Given the description of an element on the screen output the (x, y) to click on. 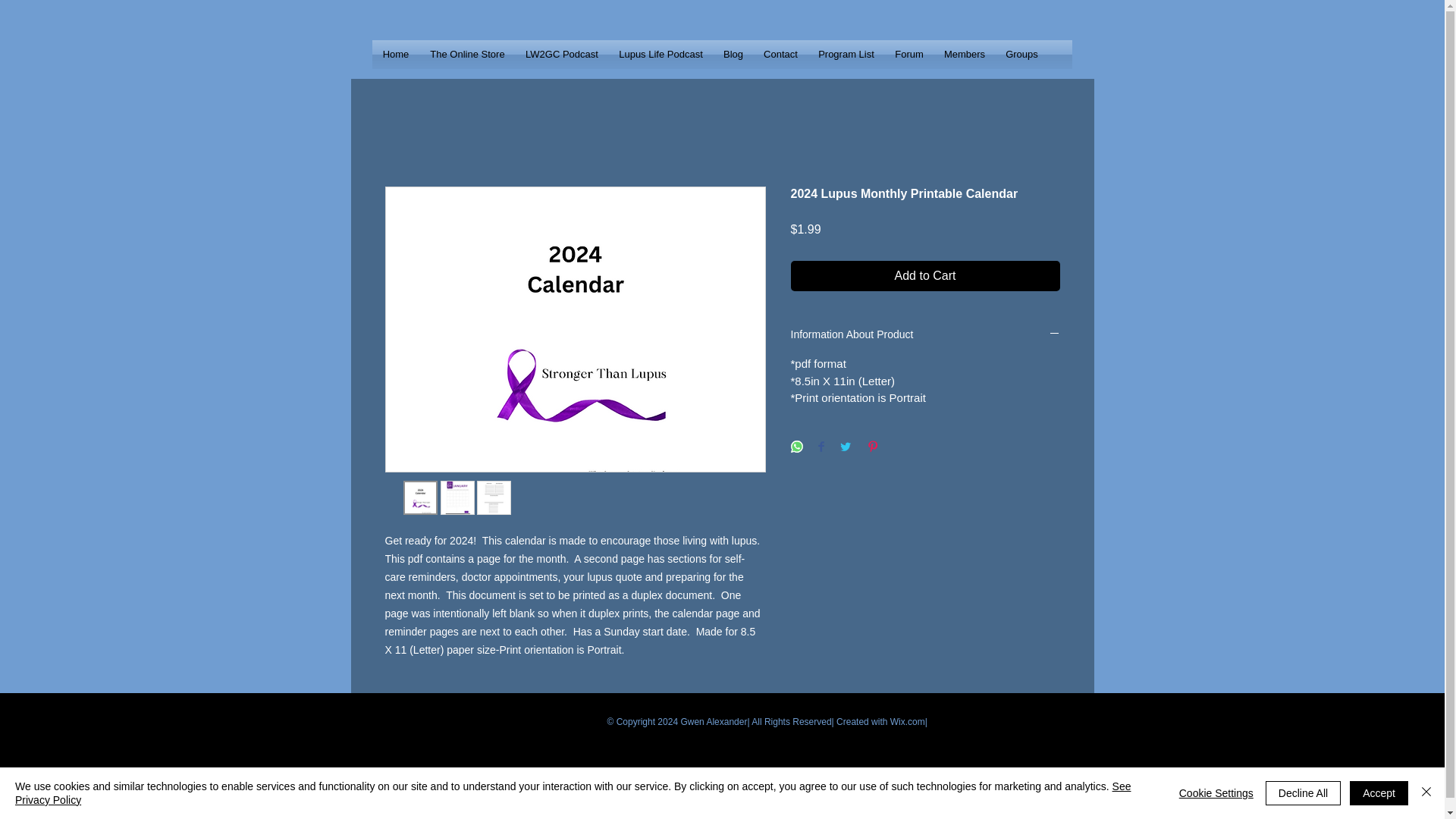
Members (964, 54)
Accept (1378, 793)
Add to Cart (924, 276)
Decline All (1302, 793)
LW2GC Podcast (561, 54)
Program List (846, 54)
Blog (732, 54)
Forum (908, 54)
The Online Store (467, 54)
Groups (1021, 54)
